Given the description of an element on the screen output the (x, y) to click on. 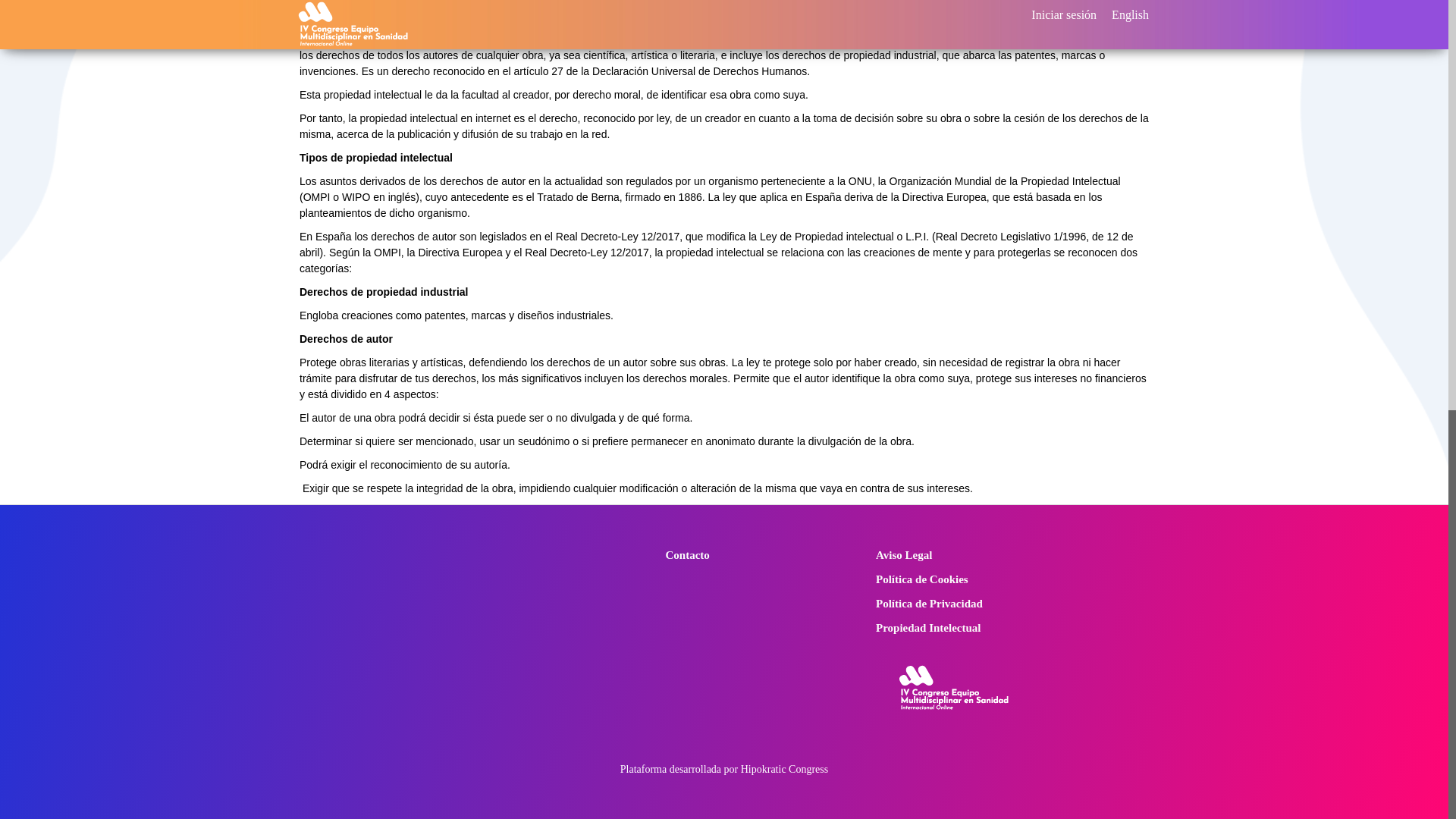
Propiedad Intelectual (1005, 627)
Contacto (759, 554)
Aviso Legal (1005, 554)
